Given the description of an element on the screen output the (x, y) to click on. 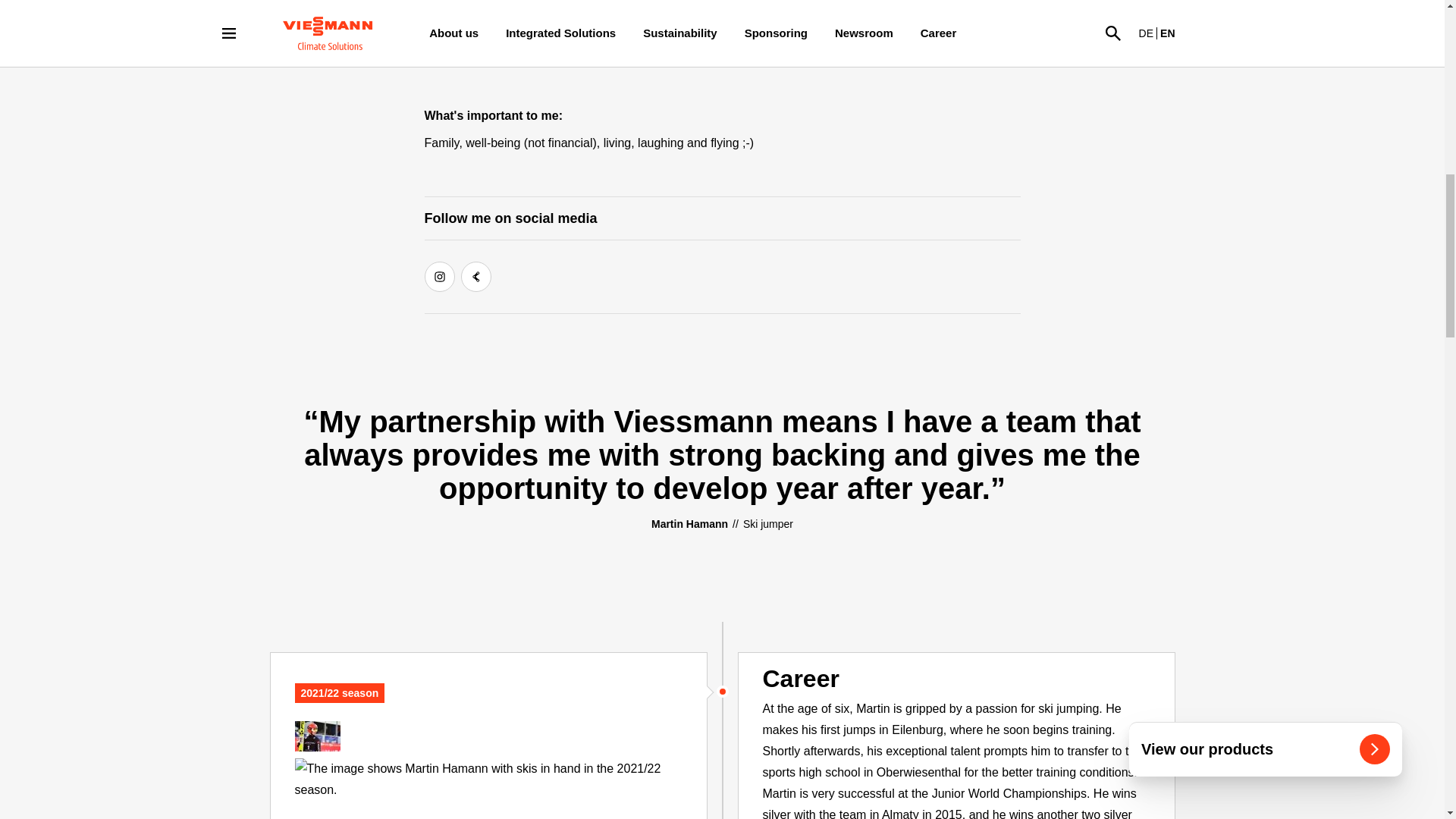
Instagram (439, 276)
Copy URL to clipboard (476, 276)
